Given the description of an element on the screen output the (x, y) to click on. 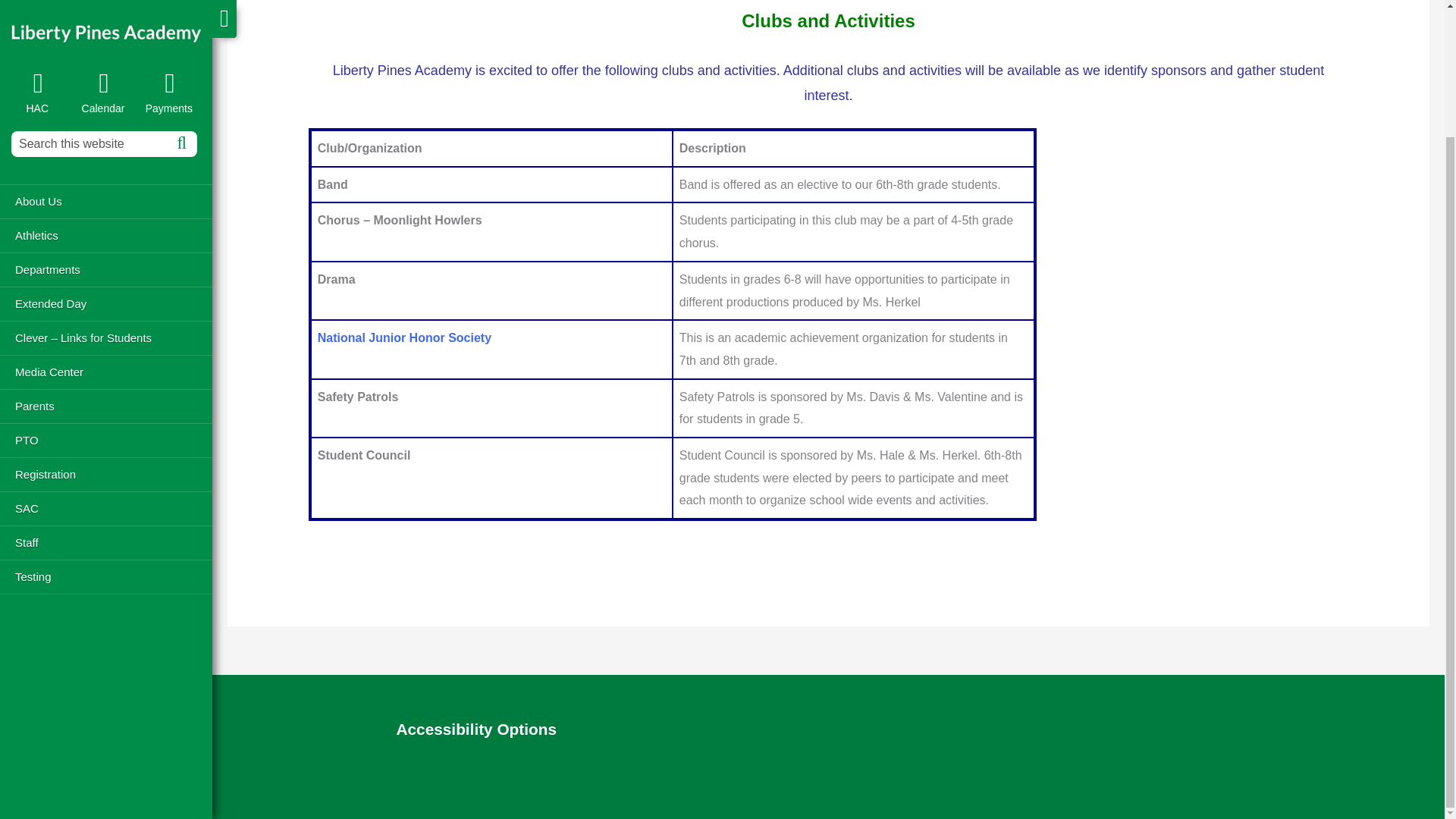
National Junior Honor Society (404, 337)
SAC (106, 354)
Staff (106, 388)
Testing (106, 422)
Media Center (106, 217)
Athletics (106, 81)
About Us (106, 47)
Parents (106, 252)
Registration (106, 320)
Extended Day (106, 149)
